Given the description of an element on the screen output the (x, y) to click on. 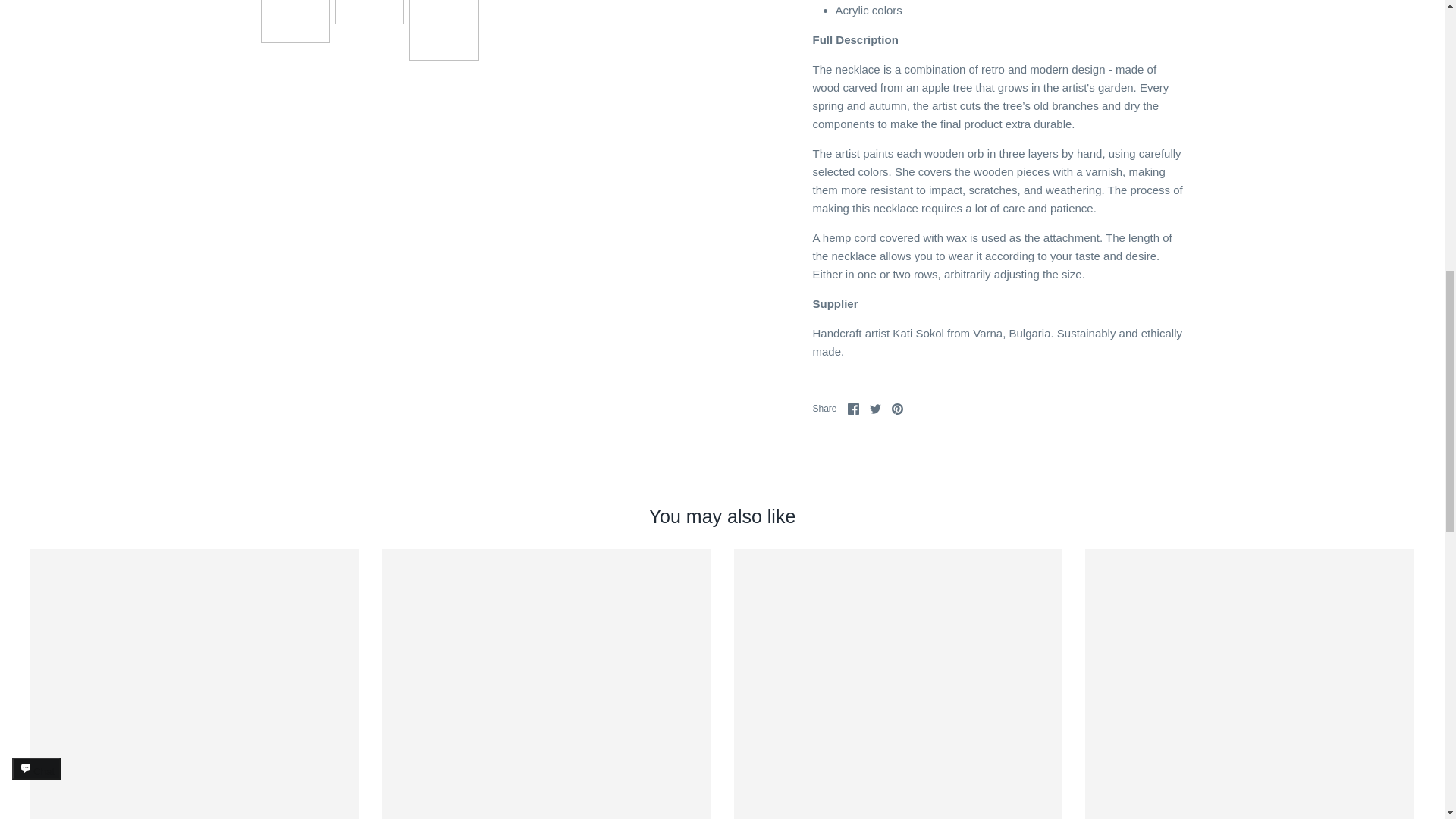
Facebook (853, 408)
Pinterest (896, 408)
Twitter (874, 408)
